Given the description of an element on the screen output the (x, y) to click on. 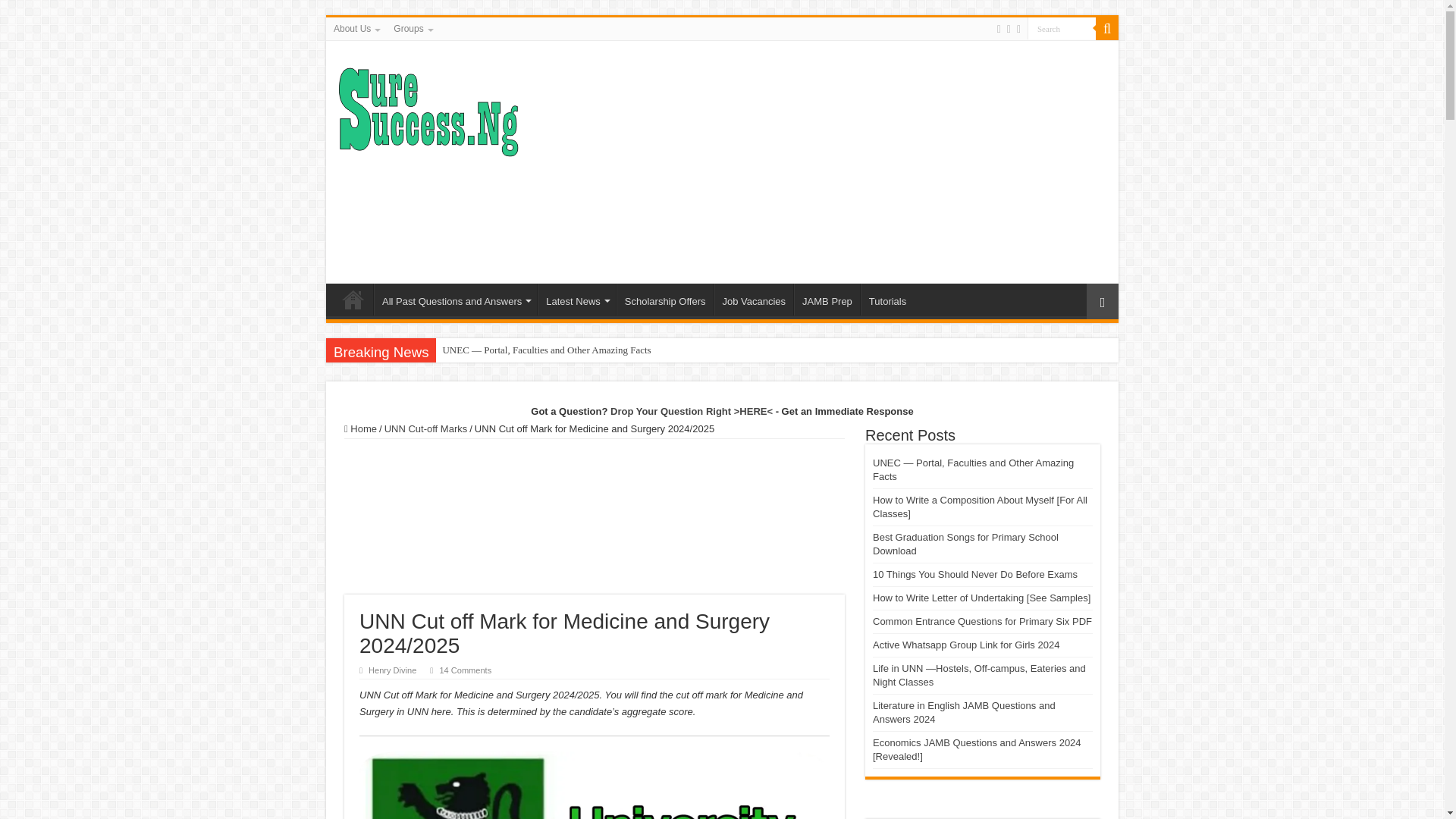
Search (1061, 28)
Search (1061, 28)
Groups (411, 28)
Search (1061, 28)
About Us (355, 28)
SureSuccess.Ng (427, 108)
